Given the description of an element on the screen output the (x, y) to click on. 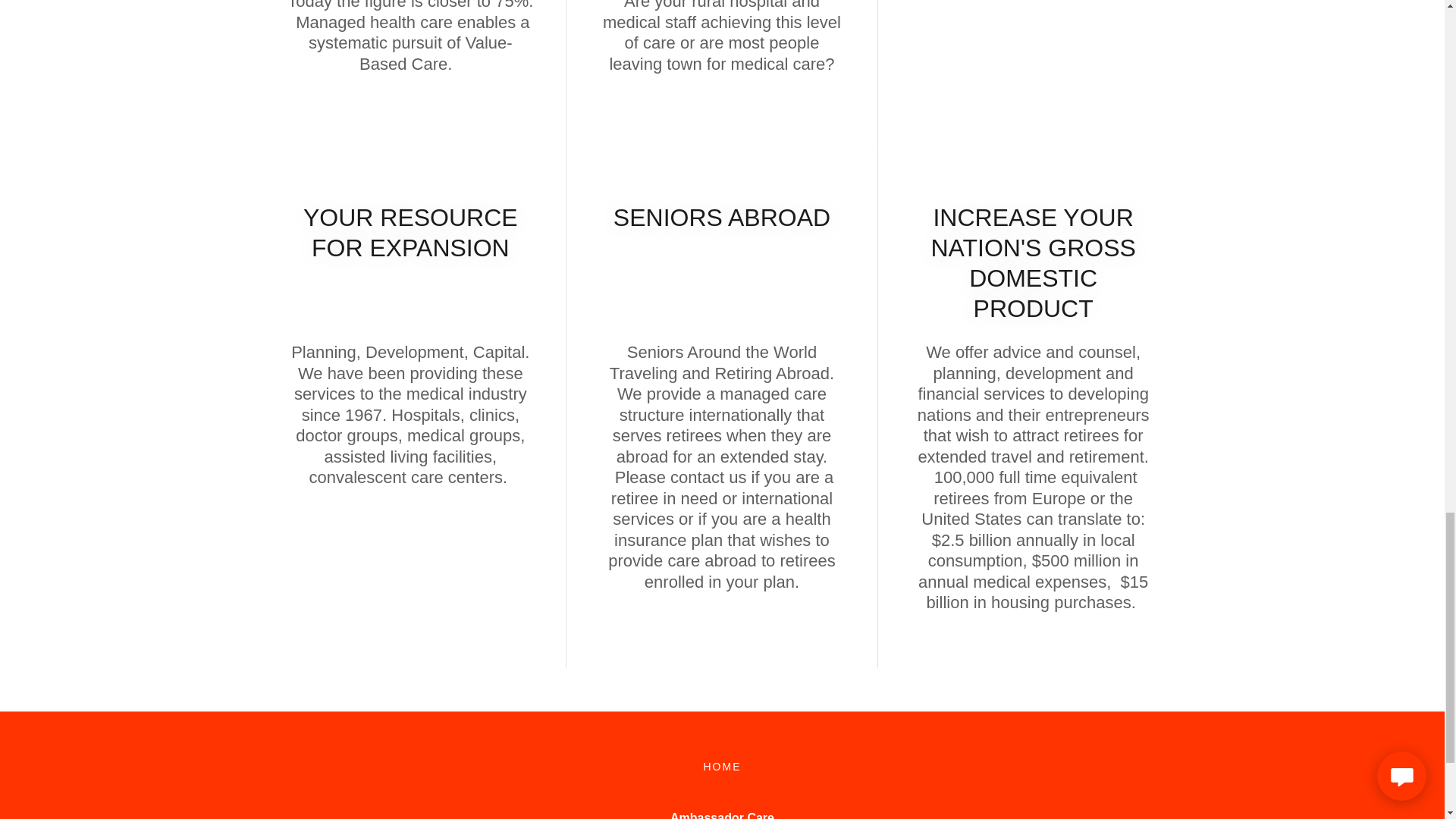
HOME (721, 766)
